Given the description of an element on the screen output the (x, y) to click on. 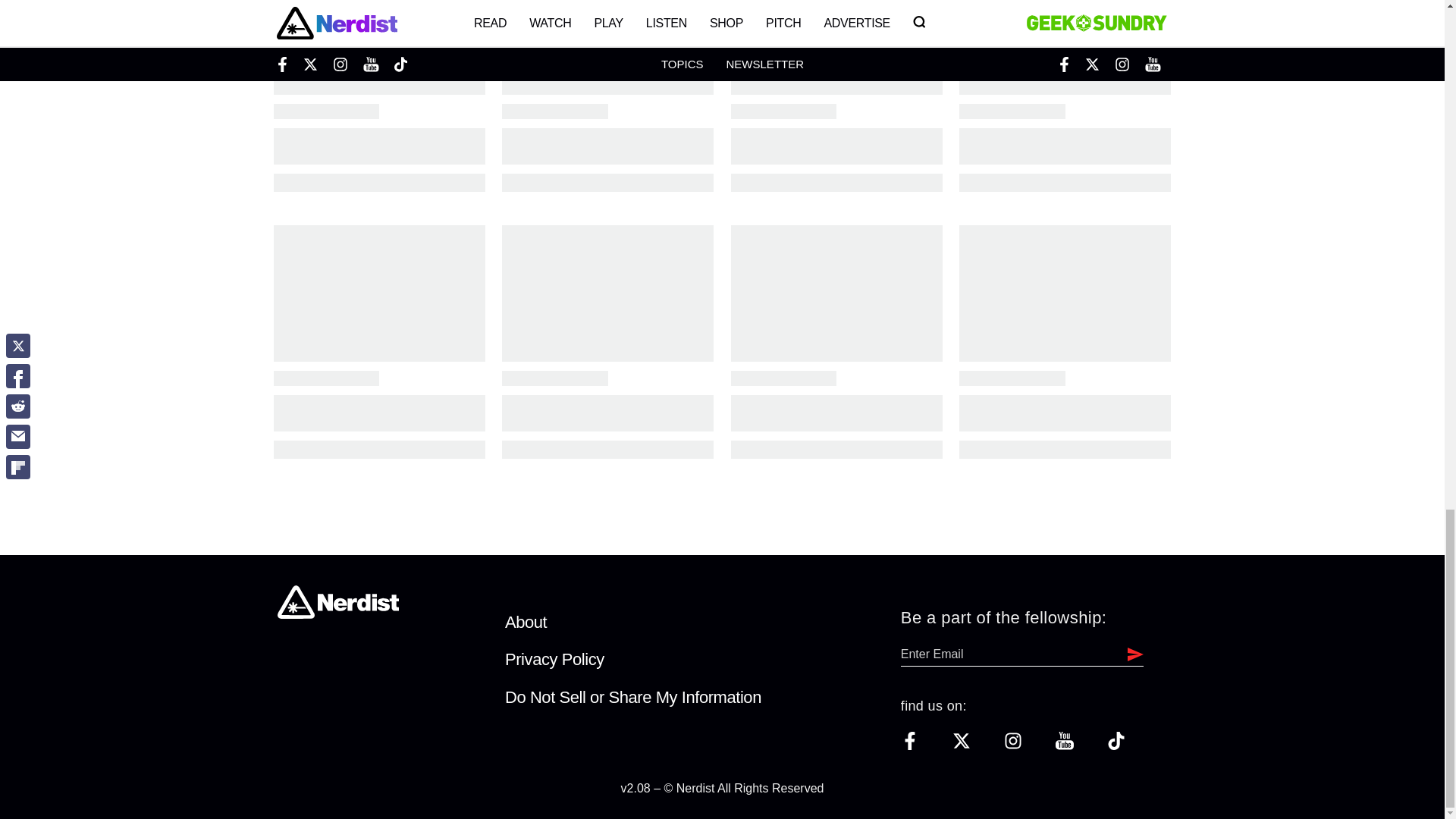
Do Not Sell or Share My Information (633, 696)
Sign Up (1131, 653)
Sign Up (1131, 653)
Privacy Policy (554, 659)
About (526, 621)
